Given the description of an element on the screen output the (x, y) to click on. 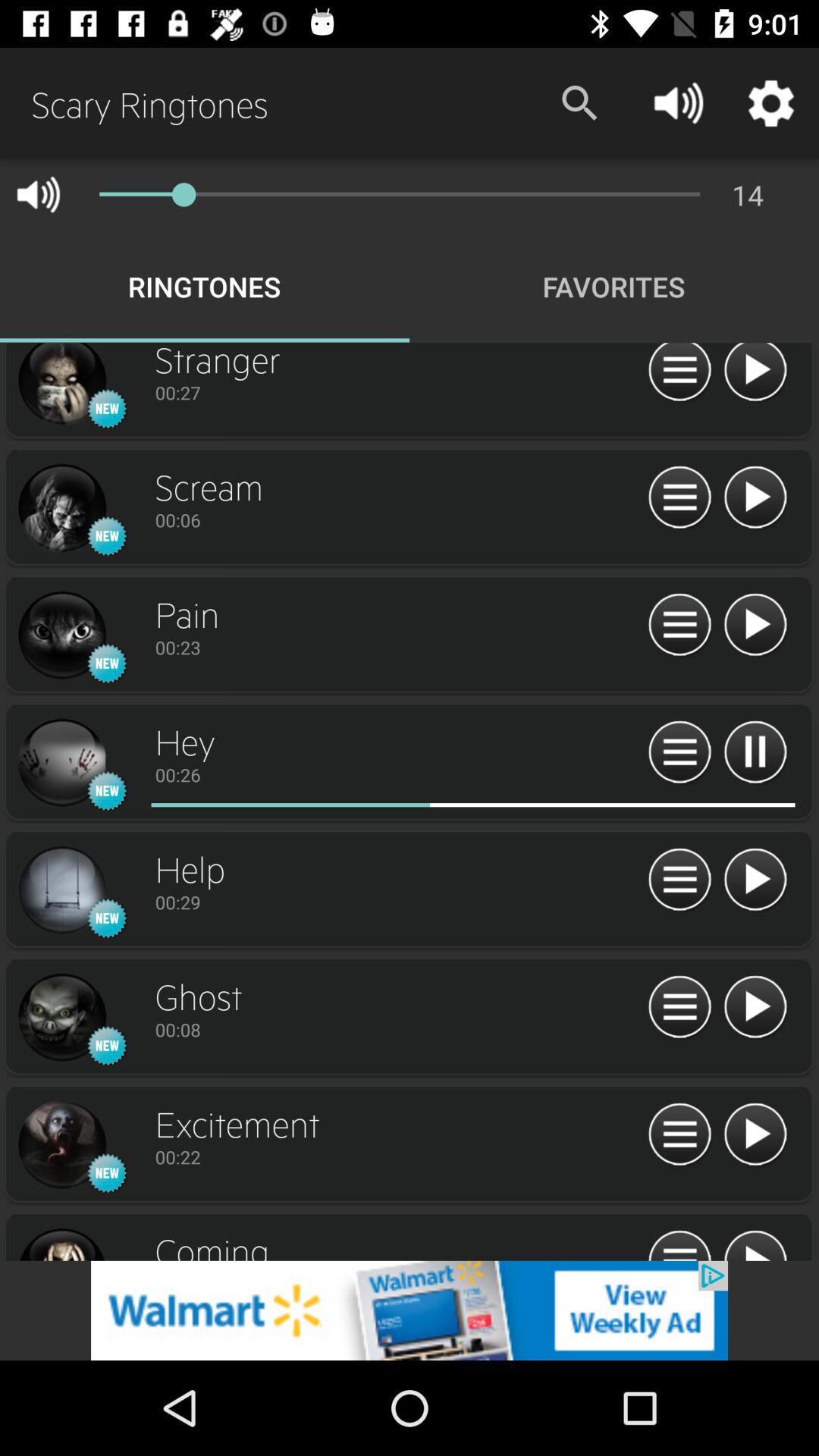
more option (679, 752)
